Given the description of an element on the screen output the (x, y) to click on. 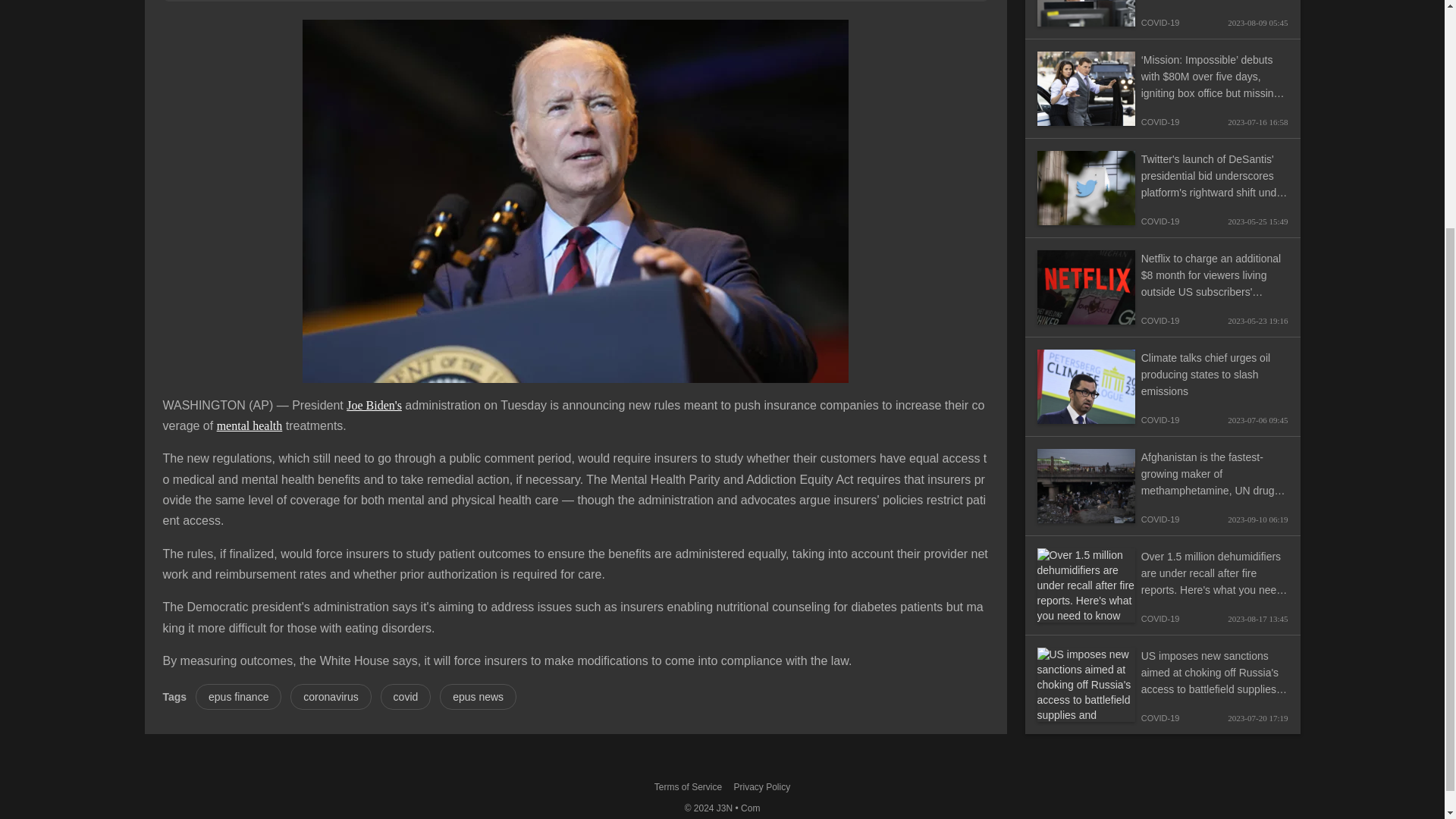
mental health (249, 425)
Privacy Policy (761, 786)
covid (405, 696)
epus finance (238, 696)
Terms of Service (687, 786)
coronavirus (330, 696)
epus news (477, 696)
Joe Biden's (373, 404)
